Given the description of an element on the screen output the (x, y) to click on. 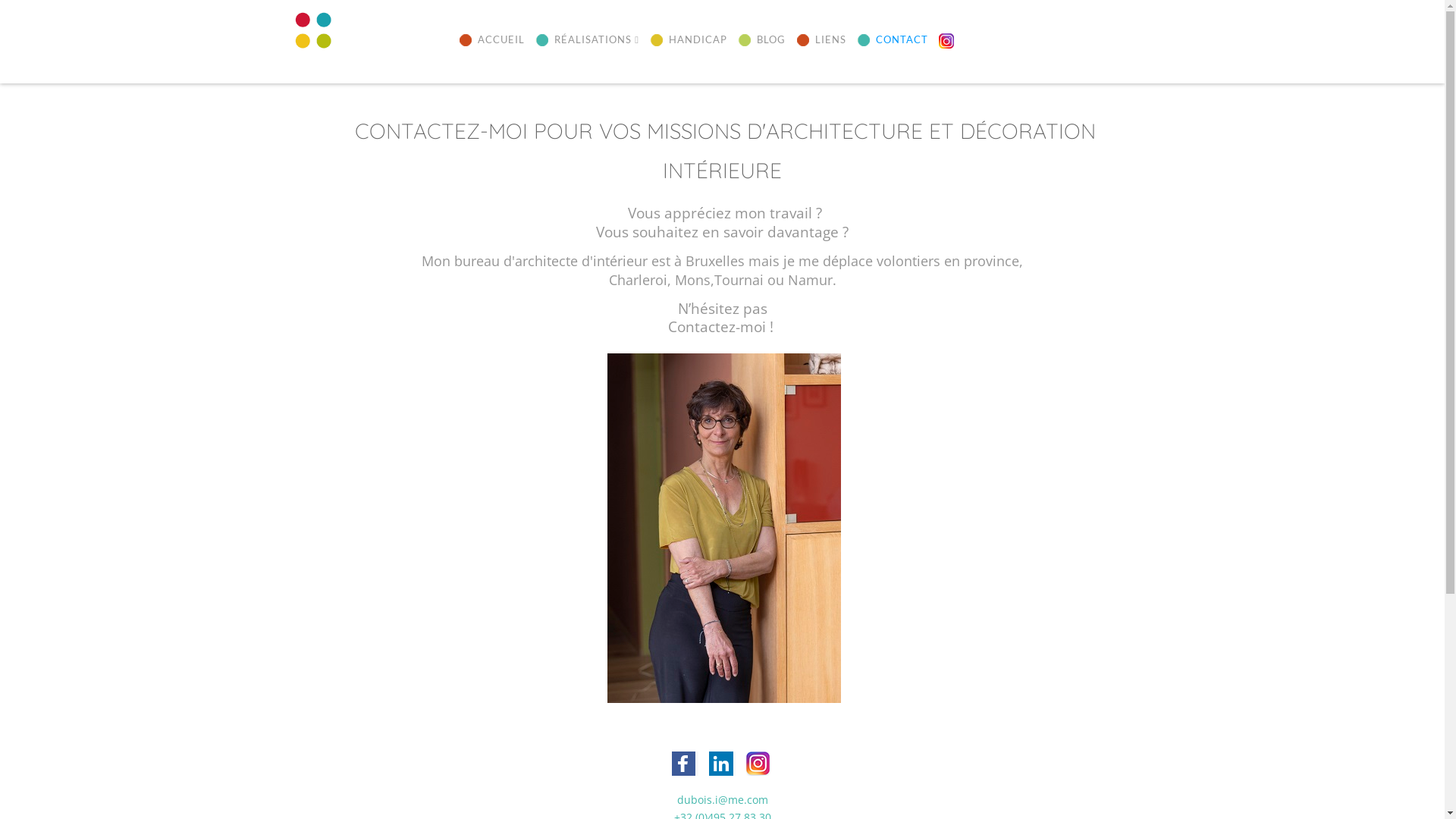
HANDICAP Element type: text (688, 41)
LIENS Element type: text (821, 41)
CONTACT Element type: text (892, 41)
ACCUEIL Element type: text (491, 41)
BLOG Element type: text (761, 41)
dubois.i@me.com Element type: text (721, 799)
